Given the description of an element on the screen output the (x, y) to click on. 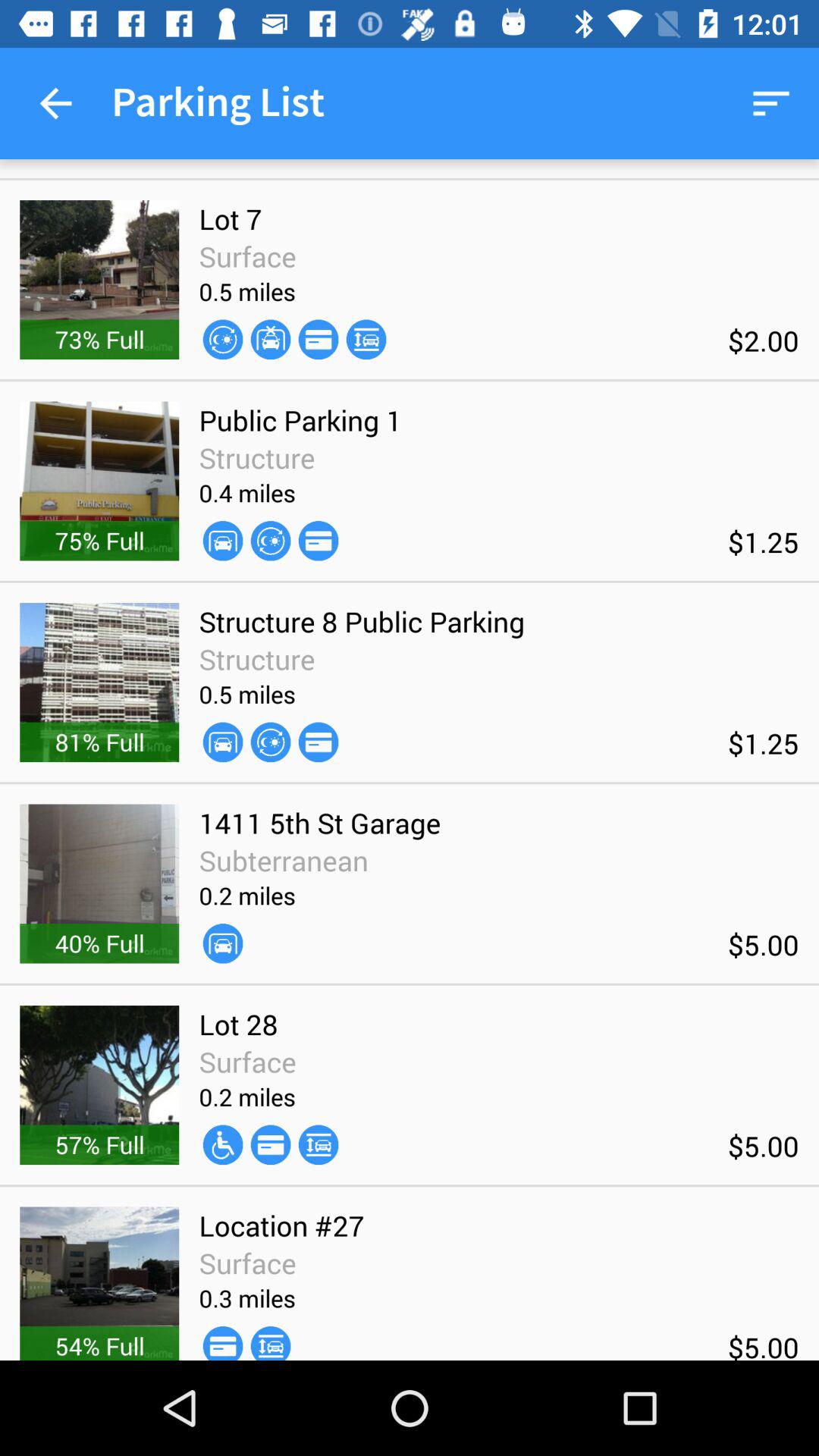
launch the item below 0.2 miles icon (270, 1144)
